Given the description of an element on the screen output the (x, y) to click on. 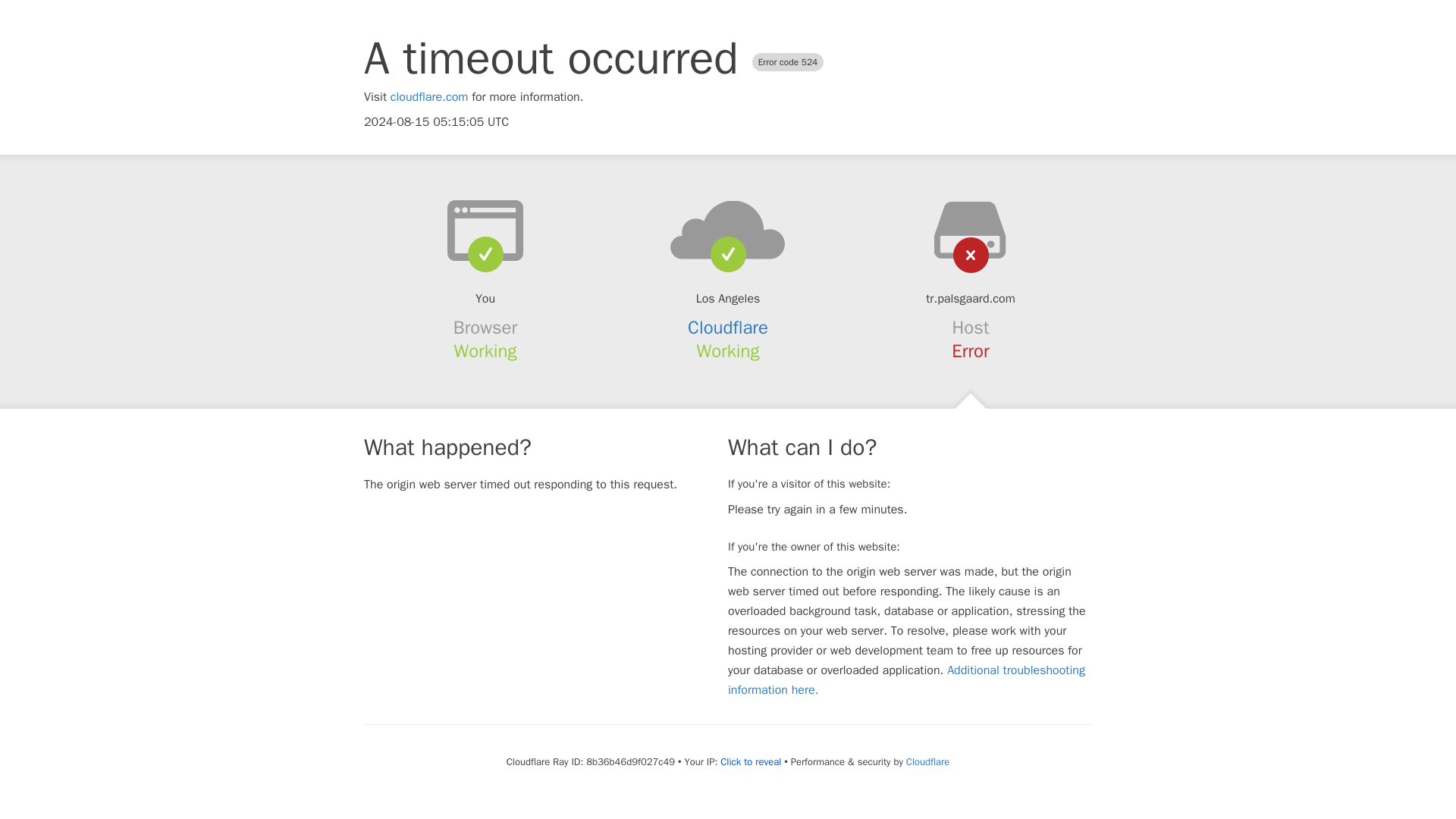
Additional troubleshooting information here. (906, 679)
Cloudflare (727, 327)
Cloudflare (927, 761)
cloudflare.com (429, 96)
Click to reveal (750, 762)
